Given the description of an element on the screen output the (x, y) to click on. 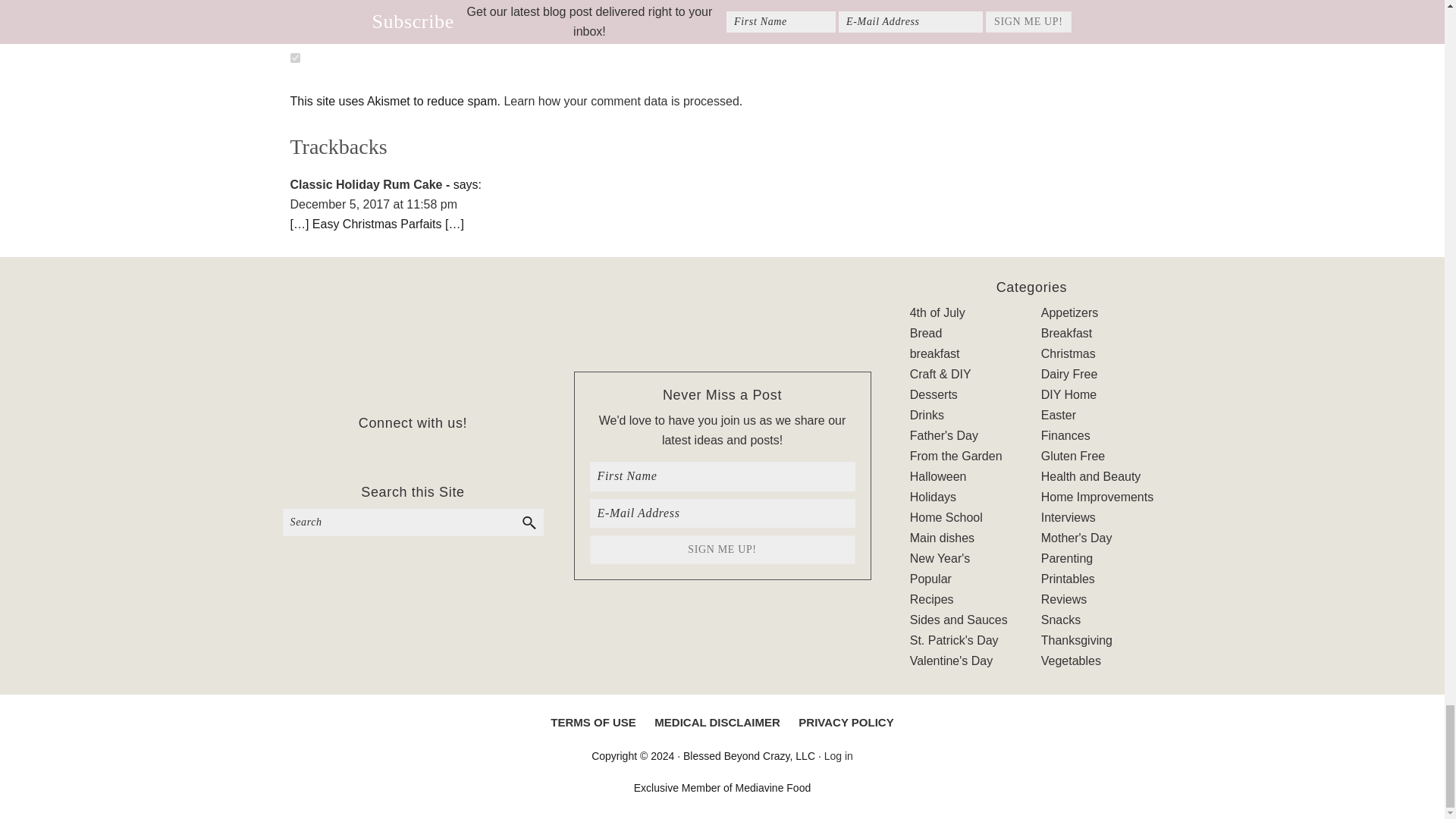
Post Comment (356, 13)
on (294, 58)
